Given the description of an element on the screen output the (x, y) to click on. 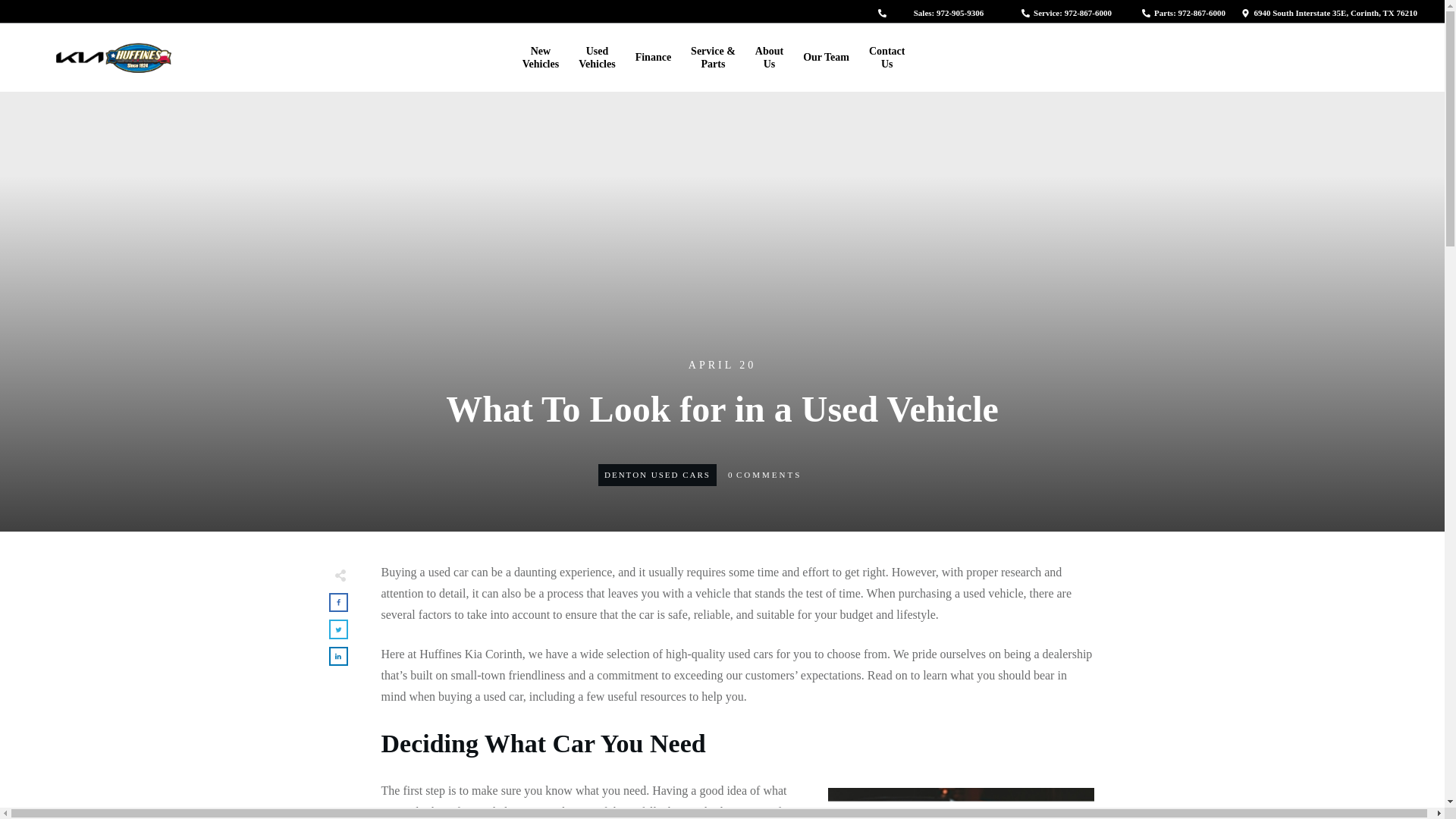
Service: 972-867-6000 (1067, 13)
Denton Used Cars (657, 474)
Parts: 972-867-6000 (540, 57)
Sales: 972-905-9306 (1183, 13)
Finance (942, 13)
6940 South Interstate 35E, Corinth, TX 76210 (596, 57)
